Given the description of an element on the screen output the (x, y) to click on. 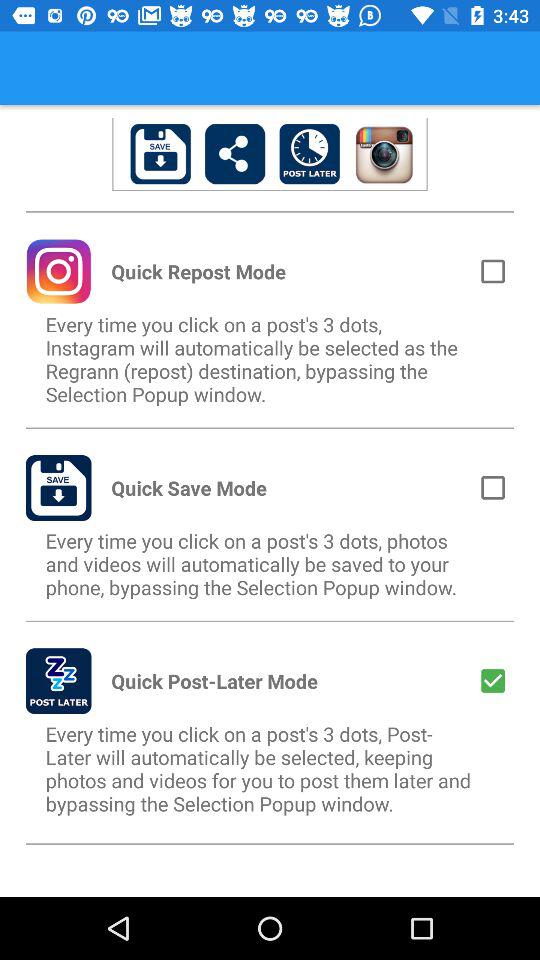
select the first checkbox on the web page (492, 271)
click on the icon beside quick repost mode (58, 272)
select the last check box (492, 680)
